Given the description of an element on the screen output the (x, y) to click on. 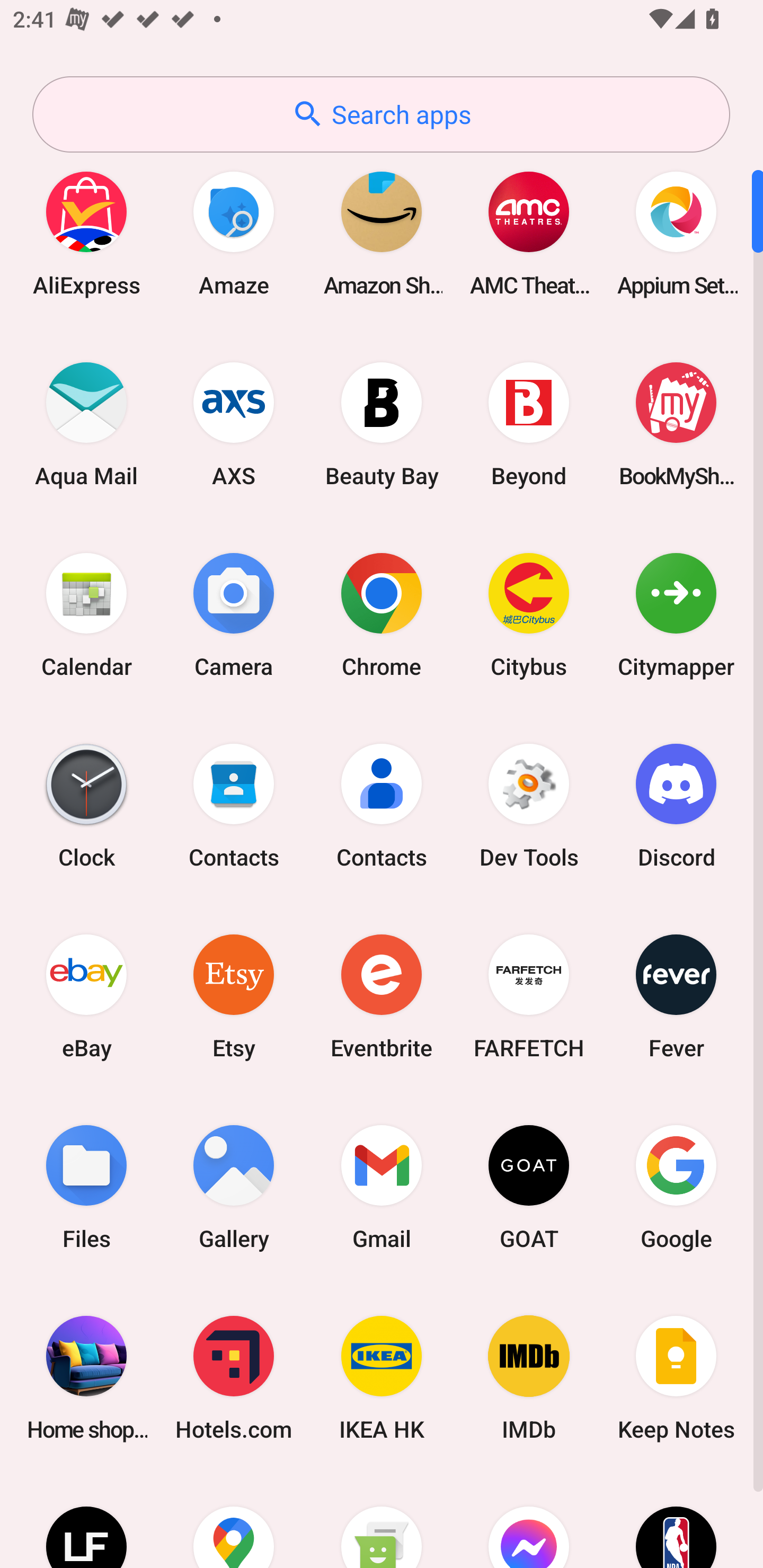
Citymapper (676, 614)
